Given the description of an element on the screen output the (x, y) to click on. 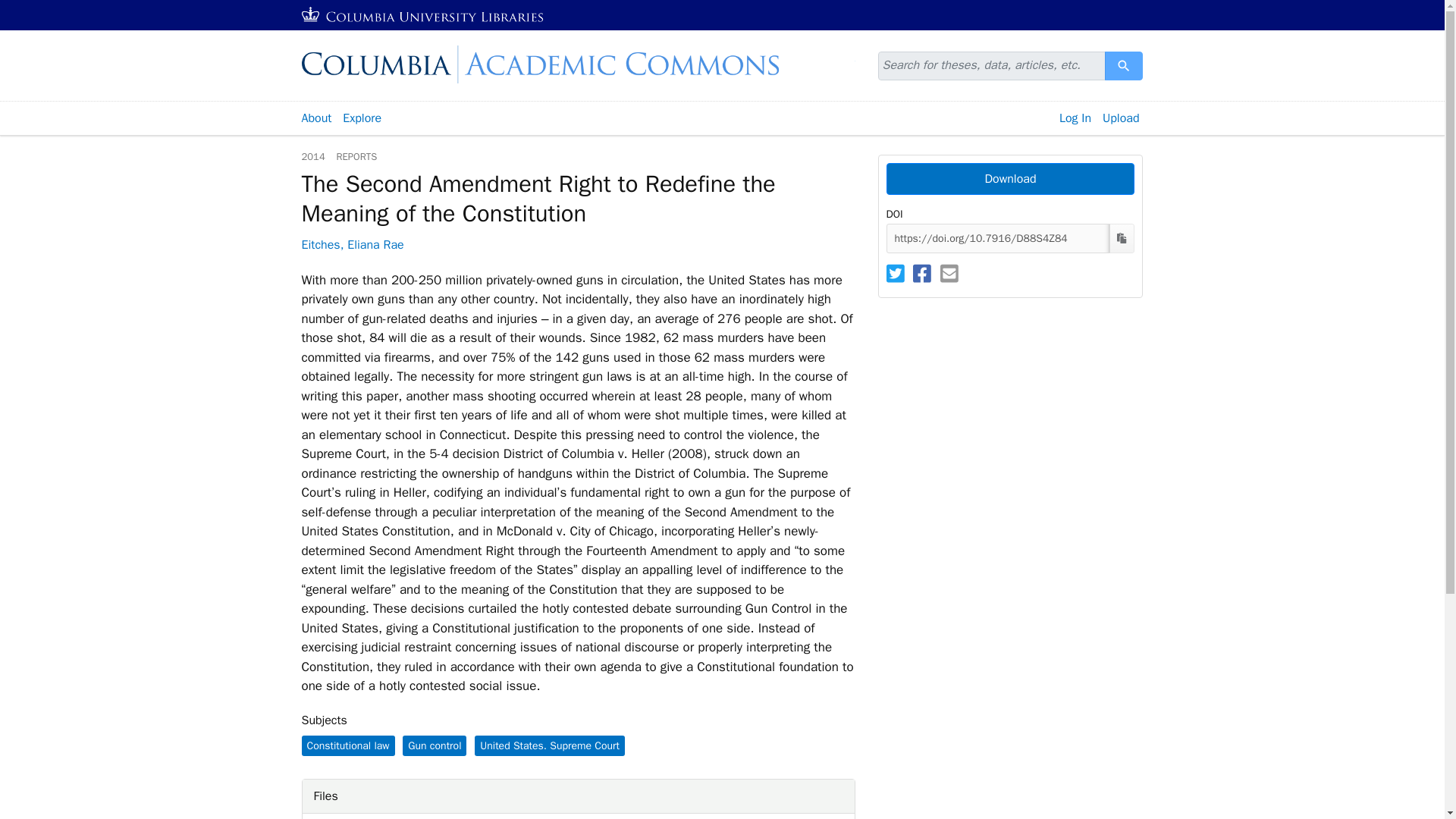
Log In (1074, 118)
Skip to main content (39, 9)
Constitutional law (347, 745)
United States. Supreme Court (549, 745)
Eitches, Eliana Rae (352, 243)
Explore (362, 118)
About (315, 118)
Upload (1120, 118)
Search (1123, 65)
Academic Commons (578, 64)
